Given the description of an element on the screen output the (x, y) to click on. 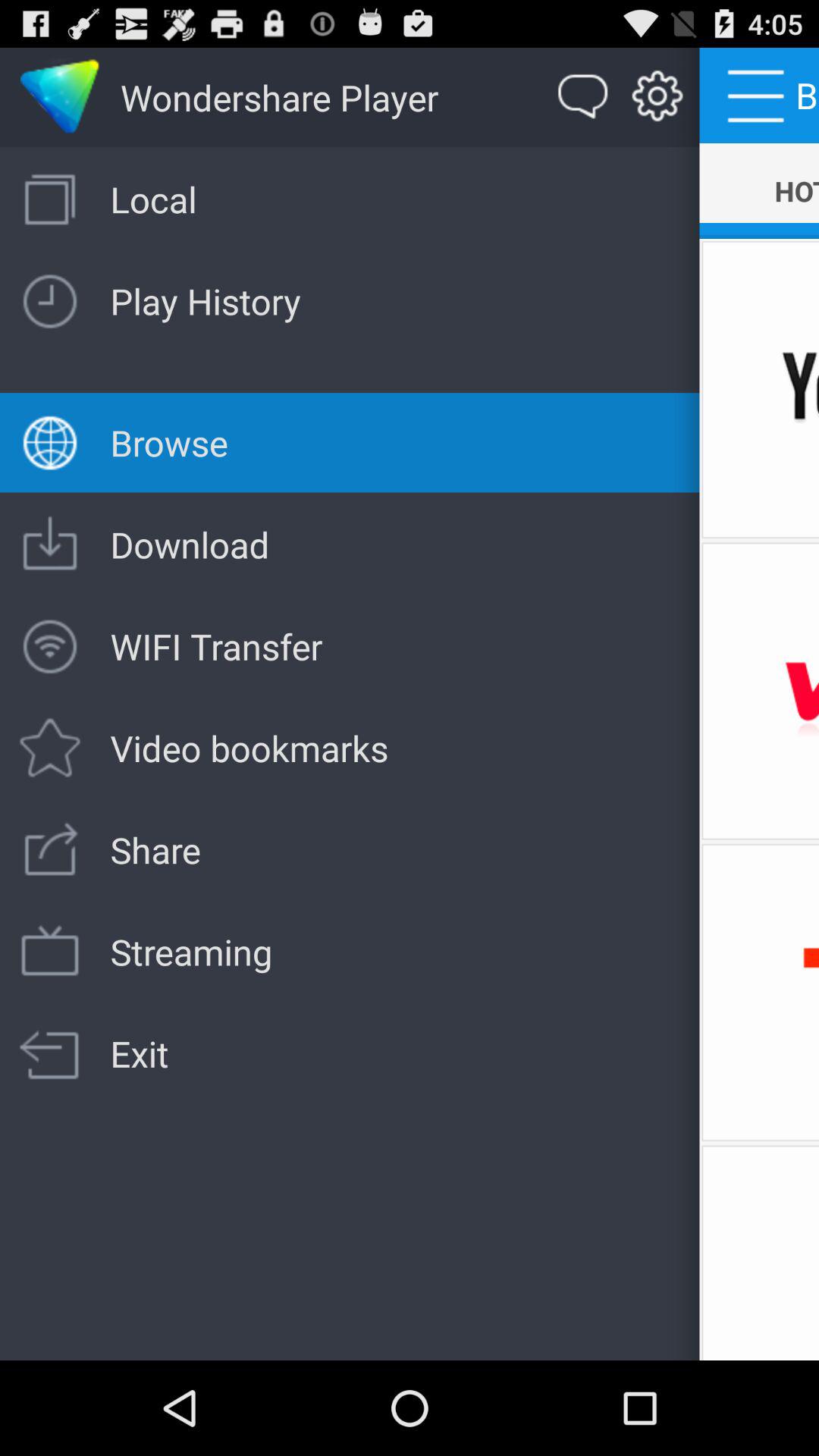
launch the icon to the right of the download item (759, 690)
